Given the description of an element on the screen output the (x, y) to click on. 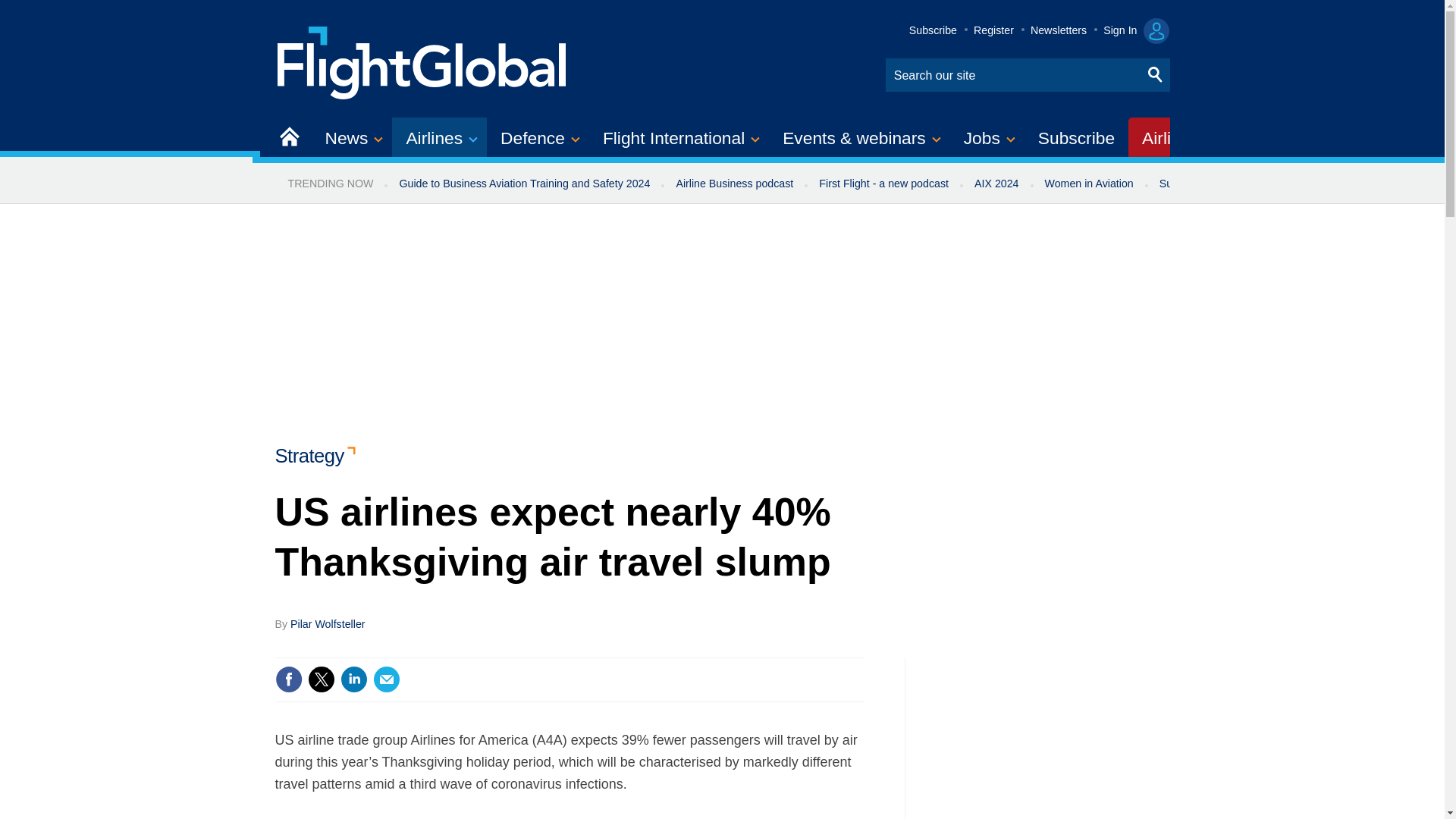
Site name (422, 60)
Guide to Business Aviation Training and Safety 2024 (523, 183)
Women in Aviation (1089, 183)
First Flight - a new podcast (883, 183)
Share this on Twitter (320, 678)
AIX 2024 (996, 183)
Share this on Linked in (352, 678)
Email this article (386, 678)
Sustainable Aviation newsletter (1234, 183)
Share this on Facebook (288, 678)
